Given the description of an element on the screen output the (x, y) to click on. 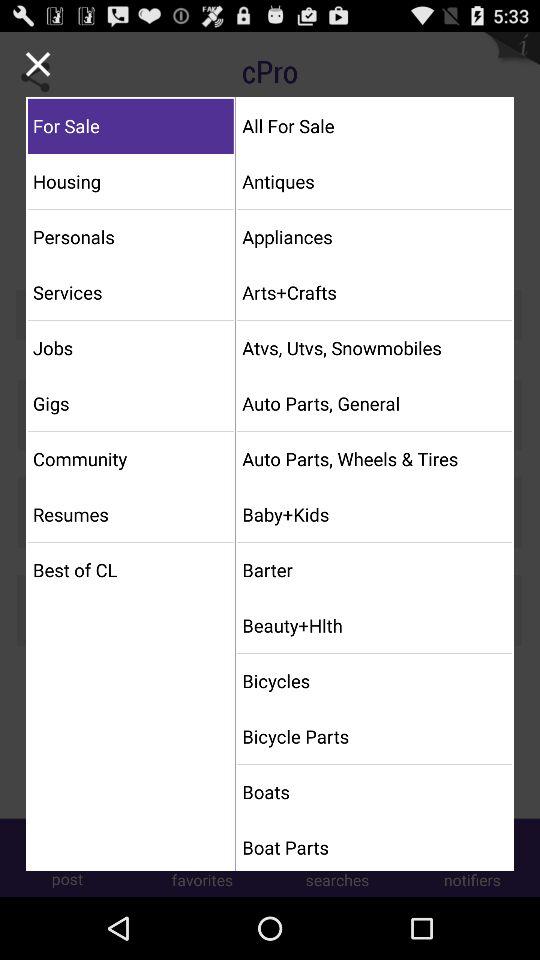
exit menu (37, 63)
